Given the description of an element on the screen output the (x, y) to click on. 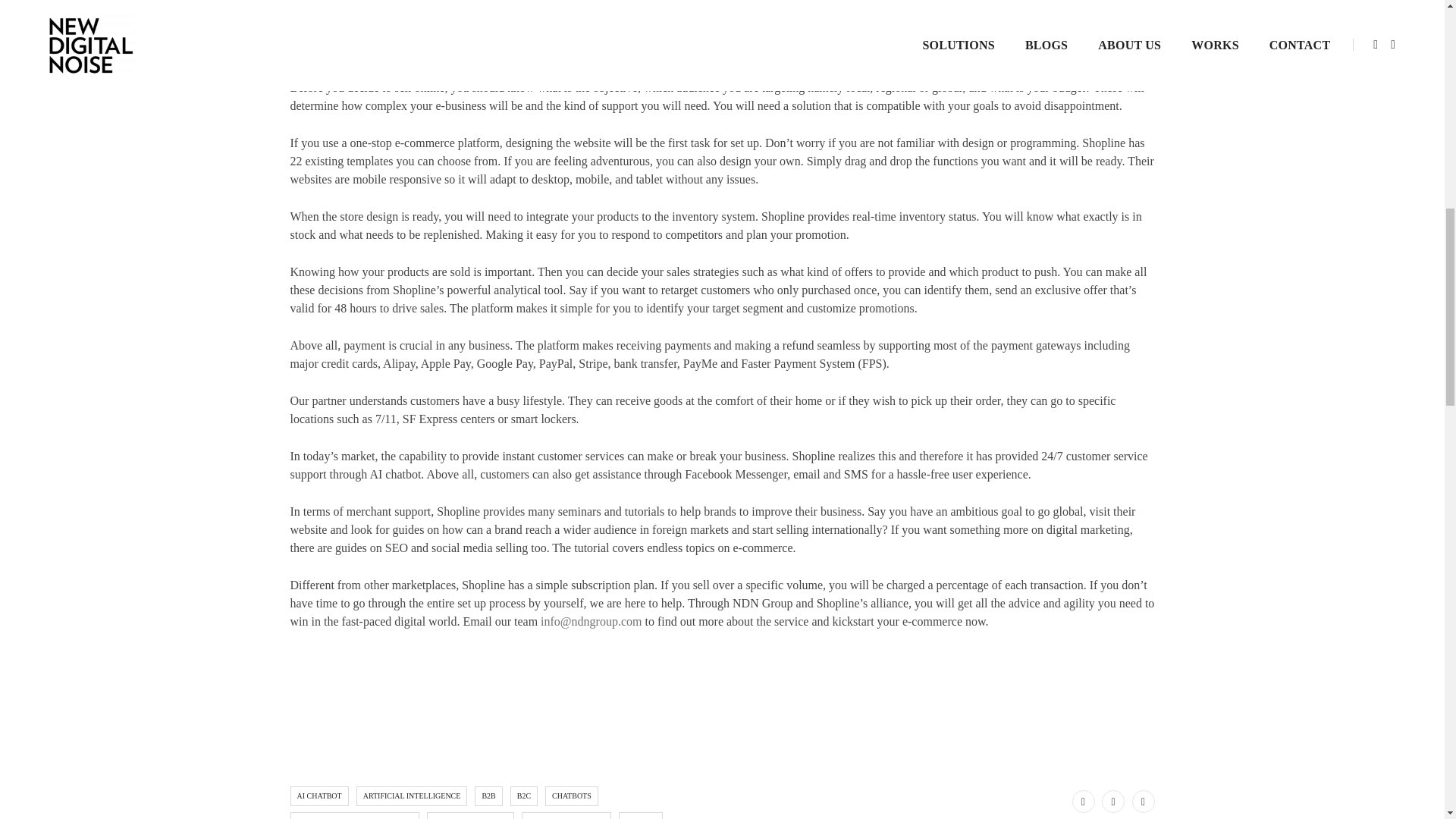
B2B (488, 795)
B2C (524, 795)
CHATBOTS (571, 795)
CUSTOMER SERVICE (470, 815)
ARTIFICIAL INTELLIGENCE (411, 795)
AI CHATBOT (318, 795)
DIGITAL (640, 815)
CUSTOMER SUPPORT (566, 815)
CONVERSATIONAL MARKETING (354, 815)
